Given the description of an element on the screen output the (x, y) to click on. 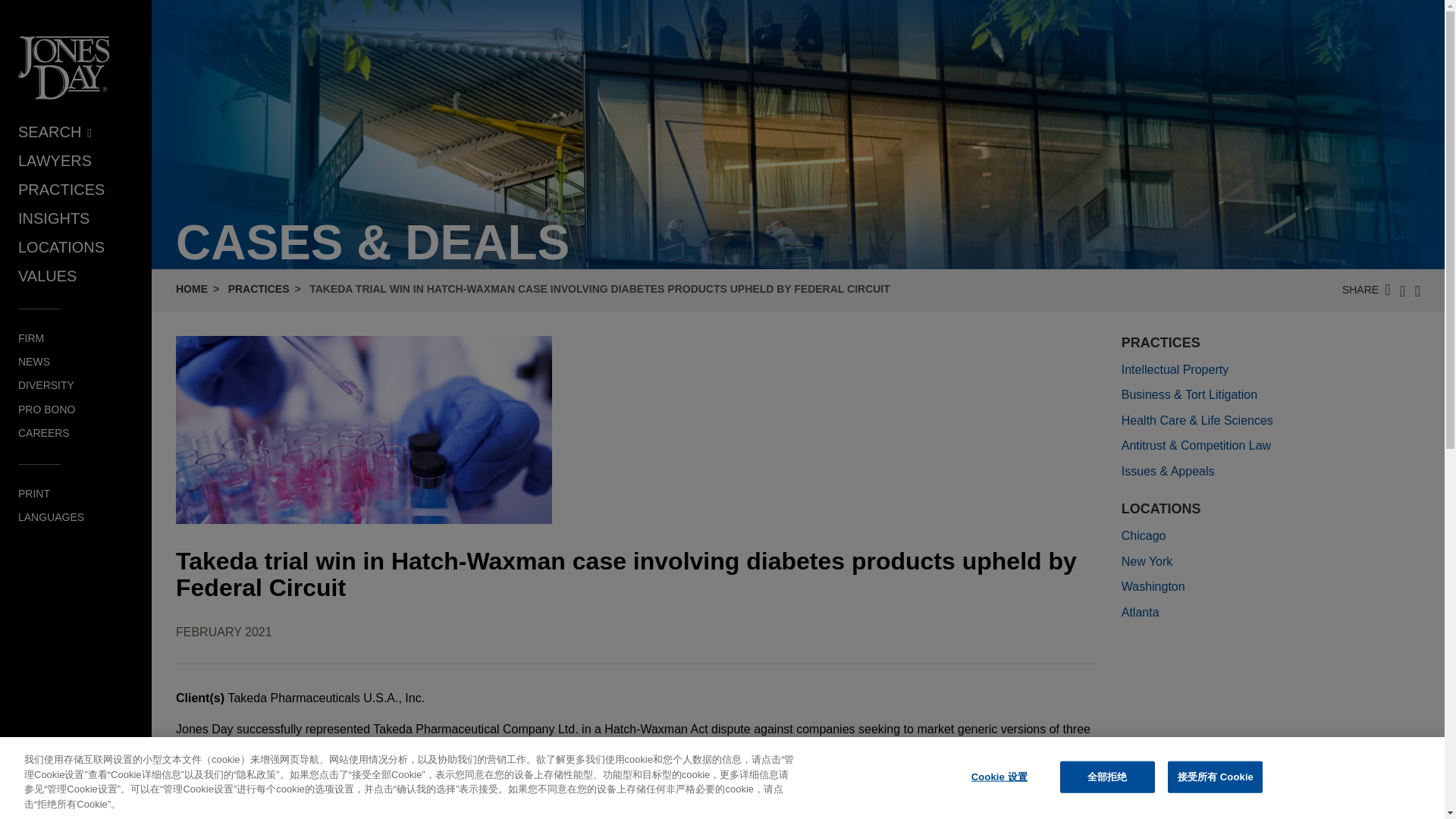
NEWS (33, 361)
INSIGHTS (52, 217)
CAREERS (43, 432)
HOME (192, 288)
PRO BONO (46, 409)
LAWYERS (54, 160)
LOCATIONS (60, 247)
PRACTICES (258, 288)
LANGUAGES (50, 517)
VALUES (47, 275)
